Given the description of an element on the screen output the (x, y) to click on. 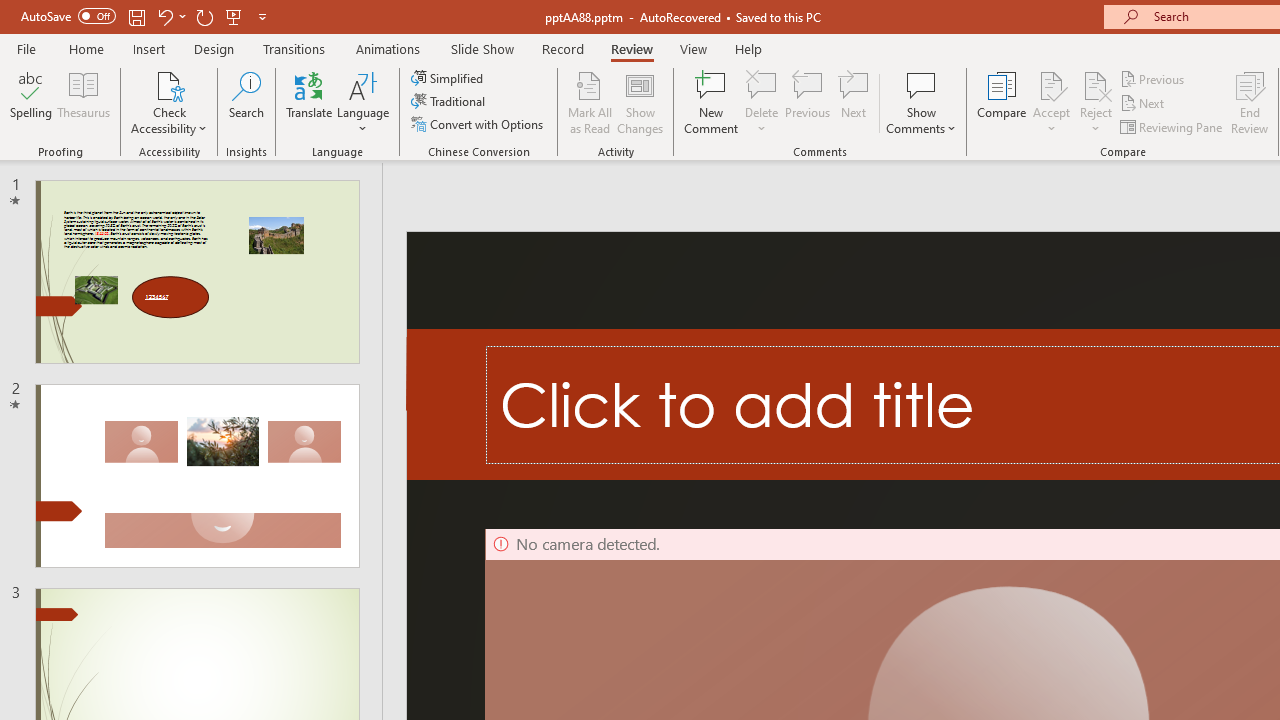
Show Comments (921, 84)
End Review (1249, 102)
Delete (762, 84)
Translate (309, 102)
Compare (1002, 102)
Delete (762, 102)
Check Accessibility (169, 84)
Convert with Options... (479, 124)
Thesaurus... (83, 102)
